Given the description of an element on the screen output the (x, y) to click on. 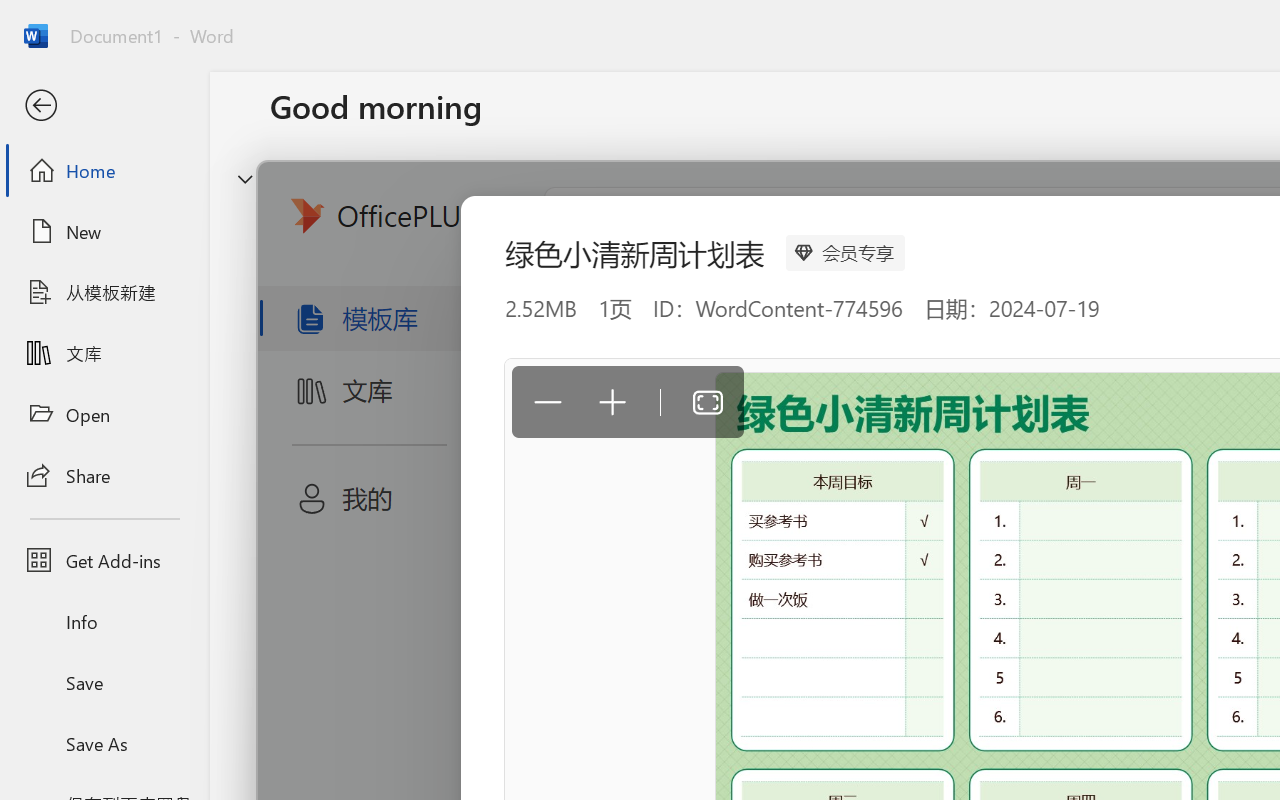
New (104, 231)
Save As (104, 743)
Info (104, 621)
Get Add-ins (104, 560)
Back (104, 106)
